Given the description of an element on the screen output the (x, y) to click on. 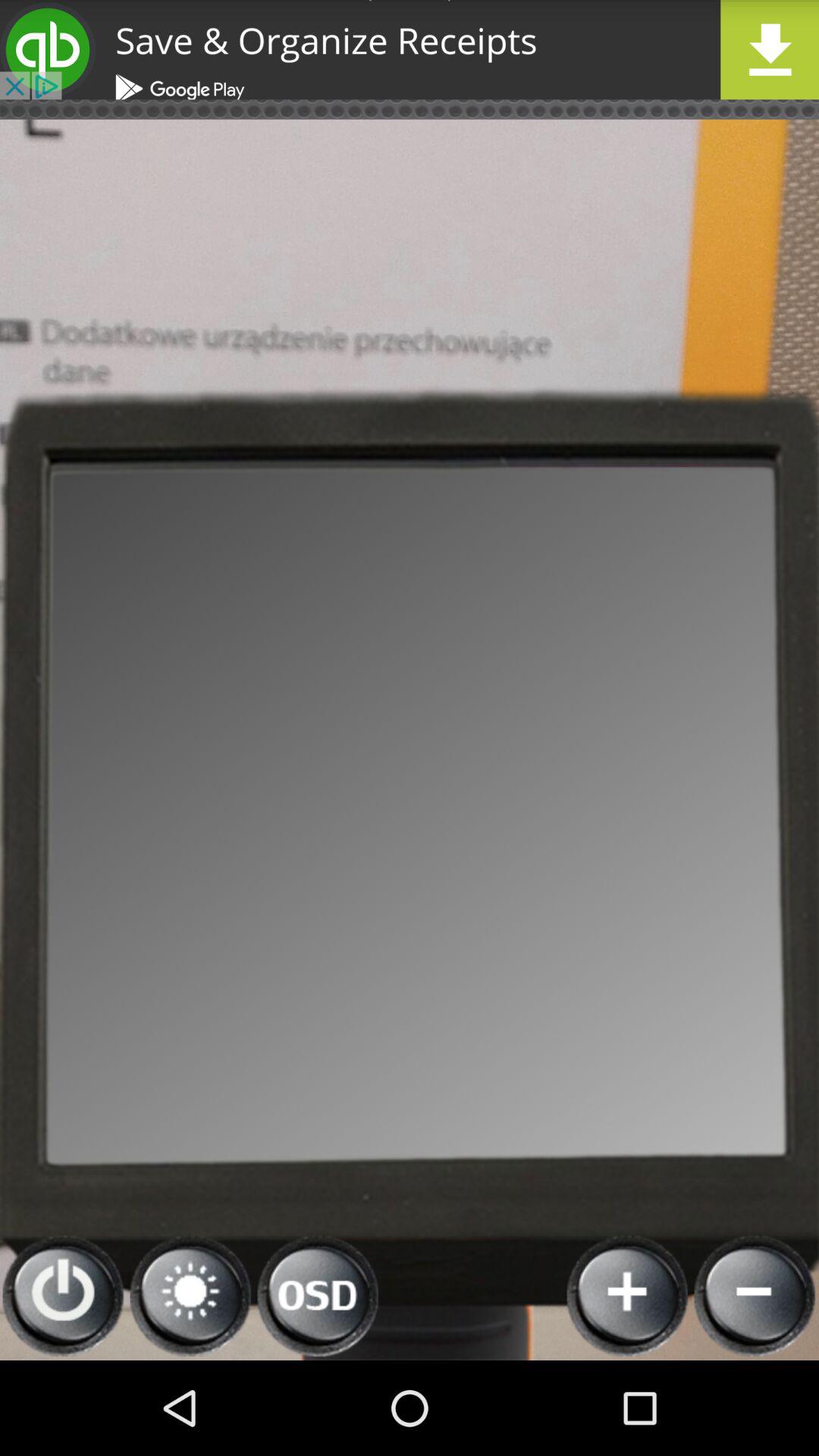
take new thermal image (627, 1296)
